Given the description of an element on the screen output the (x, y) to click on. 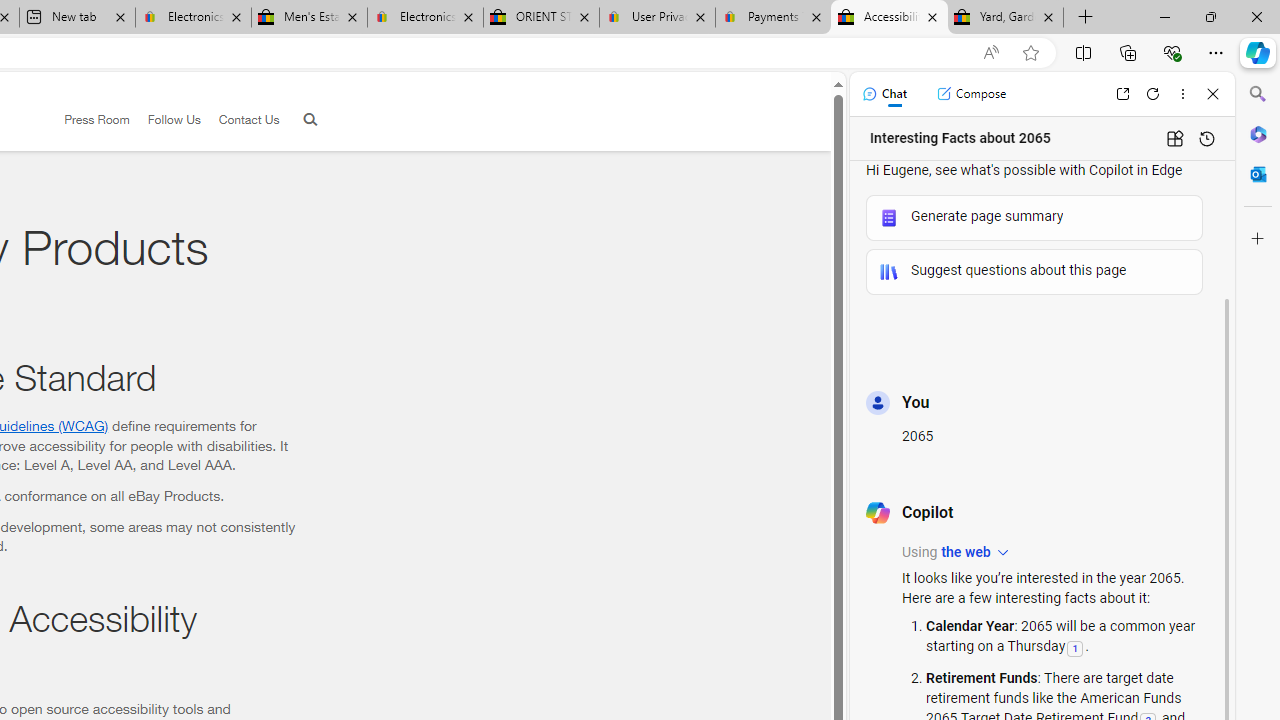
Press Room (88, 120)
Yard, Garden & Outdoor Living (1005, 17)
Follow Us (173, 119)
Follow Us (164, 120)
